Given the description of an element on the screen output the (x, y) to click on. 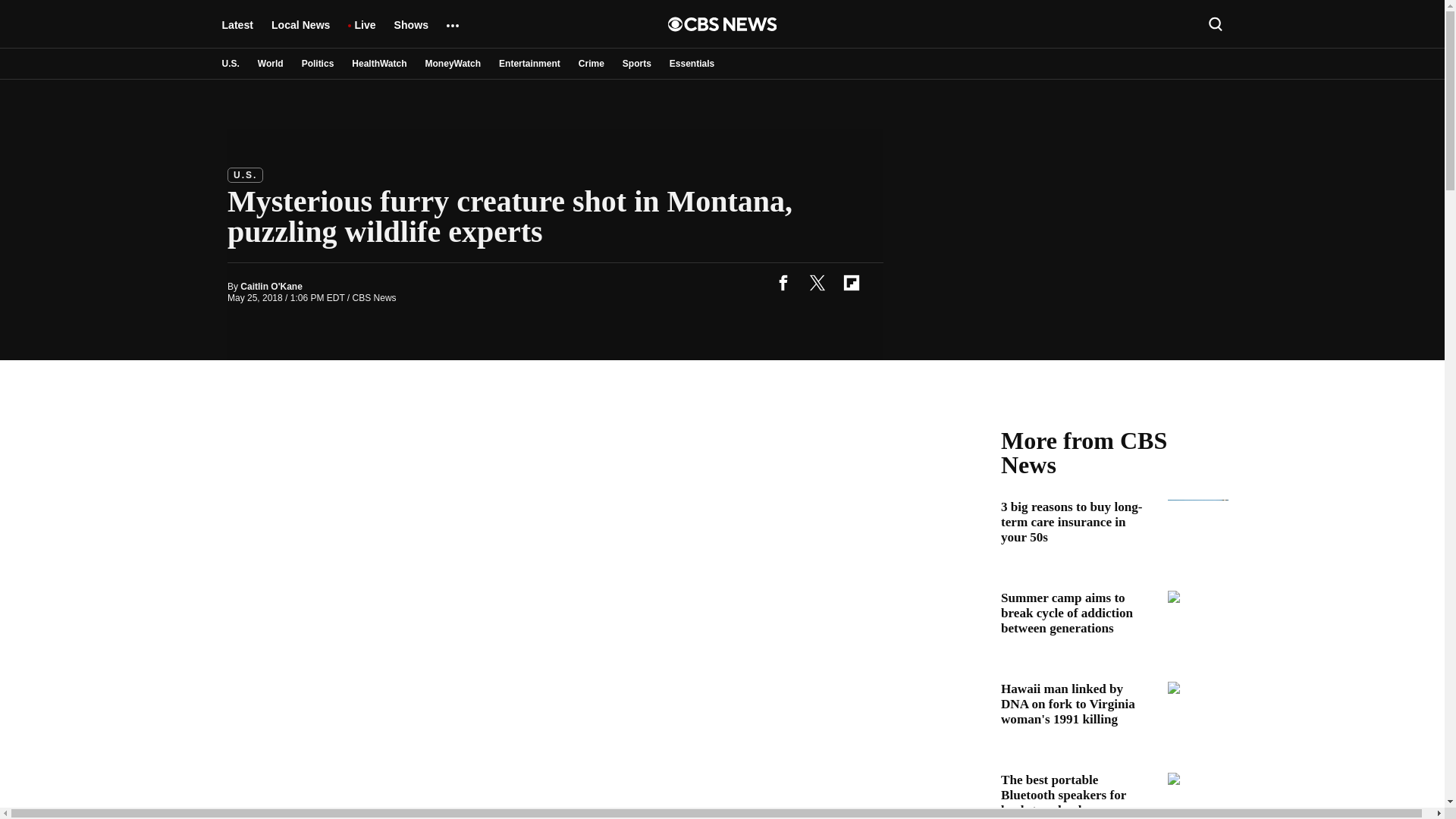
Local News (300, 31)
Latest (236, 31)
twitter (816, 282)
facebook (782, 282)
flipboard (850, 282)
